Given the description of an element on the screen output the (x, y) to click on. 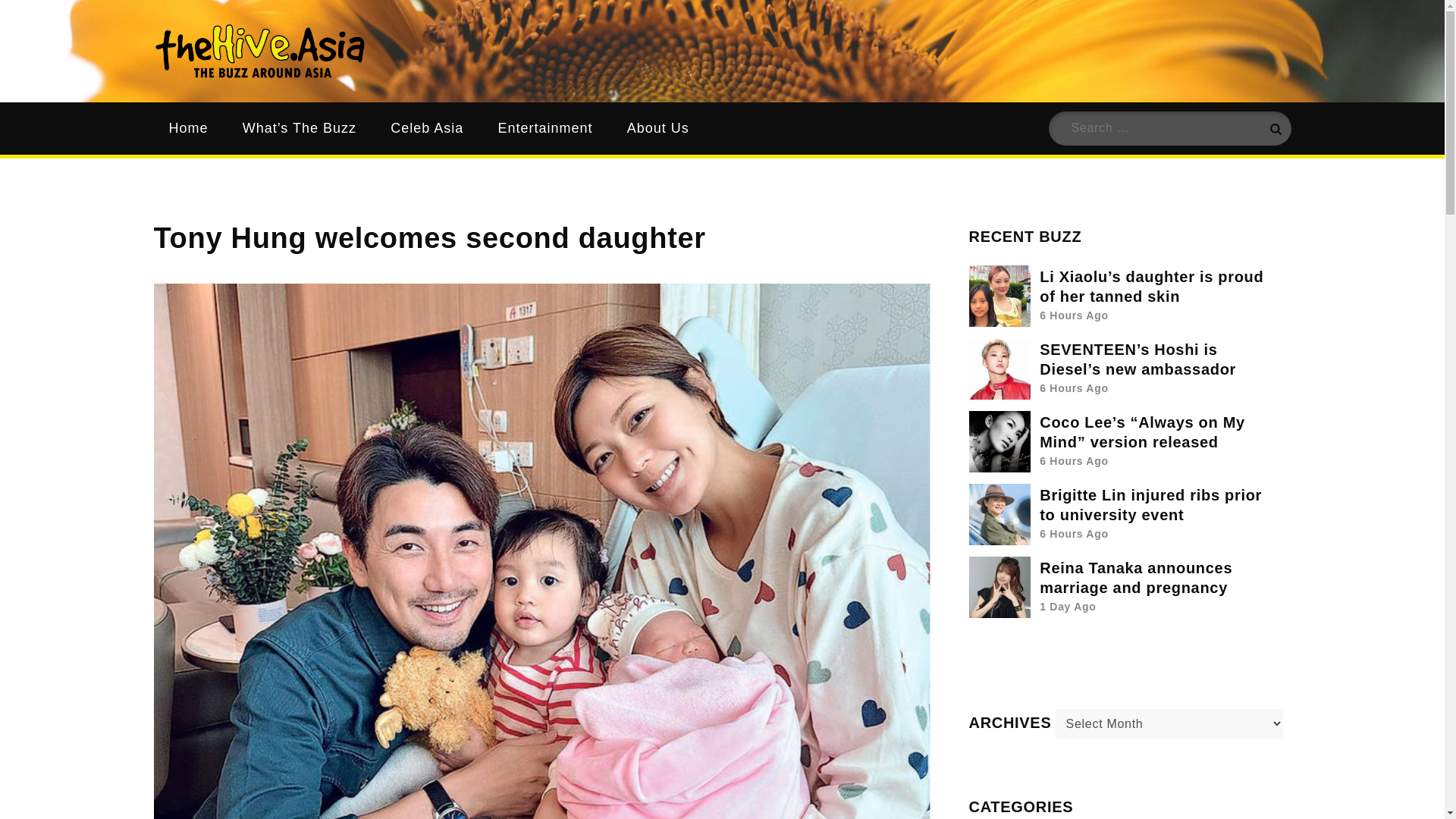
Entertainment (544, 127)
Reina Tanaka announces marriage and pregnancy (1135, 577)
Celeb Asia (427, 127)
6 Hours Ago (1073, 460)
6 Hours Ago (1073, 315)
6 Hours Ago (1073, 533)
theHive.Asia (479, 68)
6 Hours Ago (1073, 387)
About Us (657, 127)
Home (187, 127)
1 Day Ago (1067, 606)
Brigitte Lin injured ribs prior to university event (1150, 504)
